Given the description of an element on the screen output the (x, y) to click on. 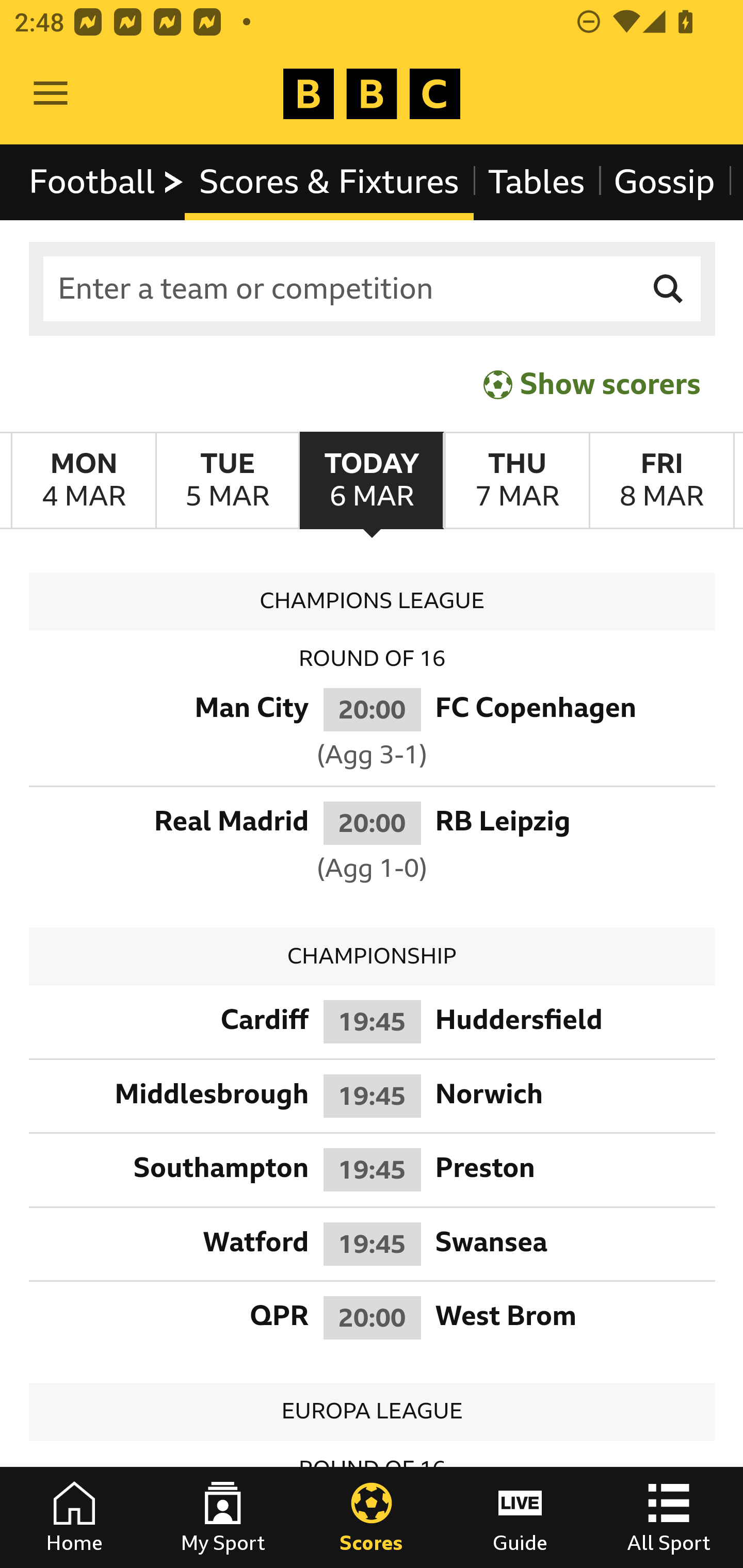
Open Menu (50, 93)
Football  (106, 181)
Scores & Fixtures (329, 181)
Tables (536, 181)
Gossip (664, 181)
Search (669, 289)
Show scorers (591, 383)
MondayMarch 4th Monday March 4th (83, 480)
TuesdayMarch 5th Tuesday March 5th (227, 480)
ThursdayMarch 7th Thursday March 7th (516, 480)
FridayMarch 8th Friday March 8th (661, 480)
Home (74, 1517)
My Sport (222, 1517)
Guide (519, 1517)
All Sport (668, 1517)
